Given the description of an element on the screen output the (x, y) to click on. 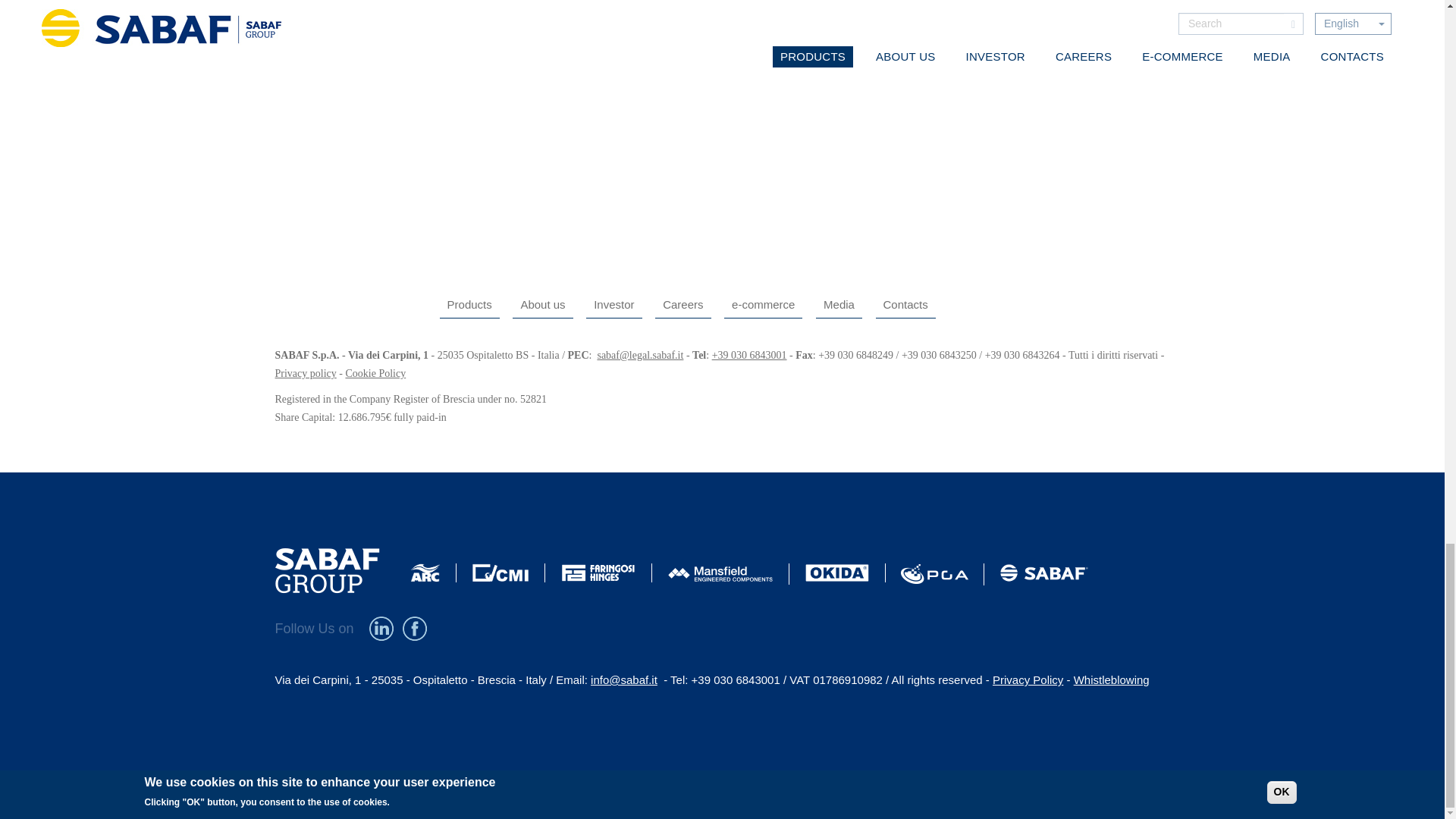
Products (469, 304)
Privacy policy (305, 373)
Media (838, 304)
Privacy Policy (305, 373)
Investor (614, 304)
Cookie IT (375, 373)
Careers (682, 304)
Contacts (904, 304)
e-commerce (762, 304)
Cookie Policy (375, 373)
About us (542, 304)
view (293, 61)
